Given the description of an element on the screen output the (x, y) to click on. 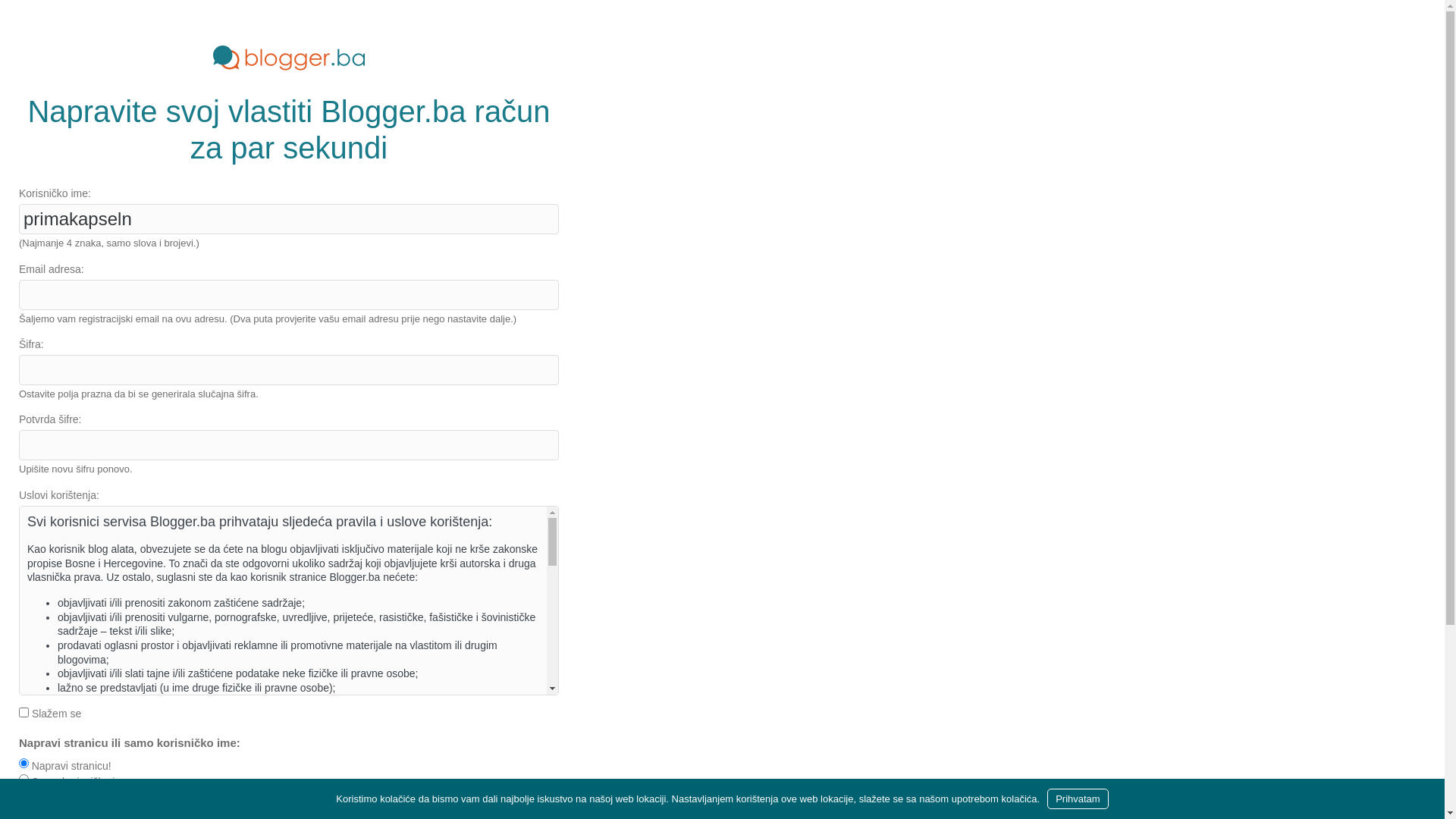
Prihvatam Element type: text (1077, 798)
